Given the description of an element on the screen output the (x, y) to click on. 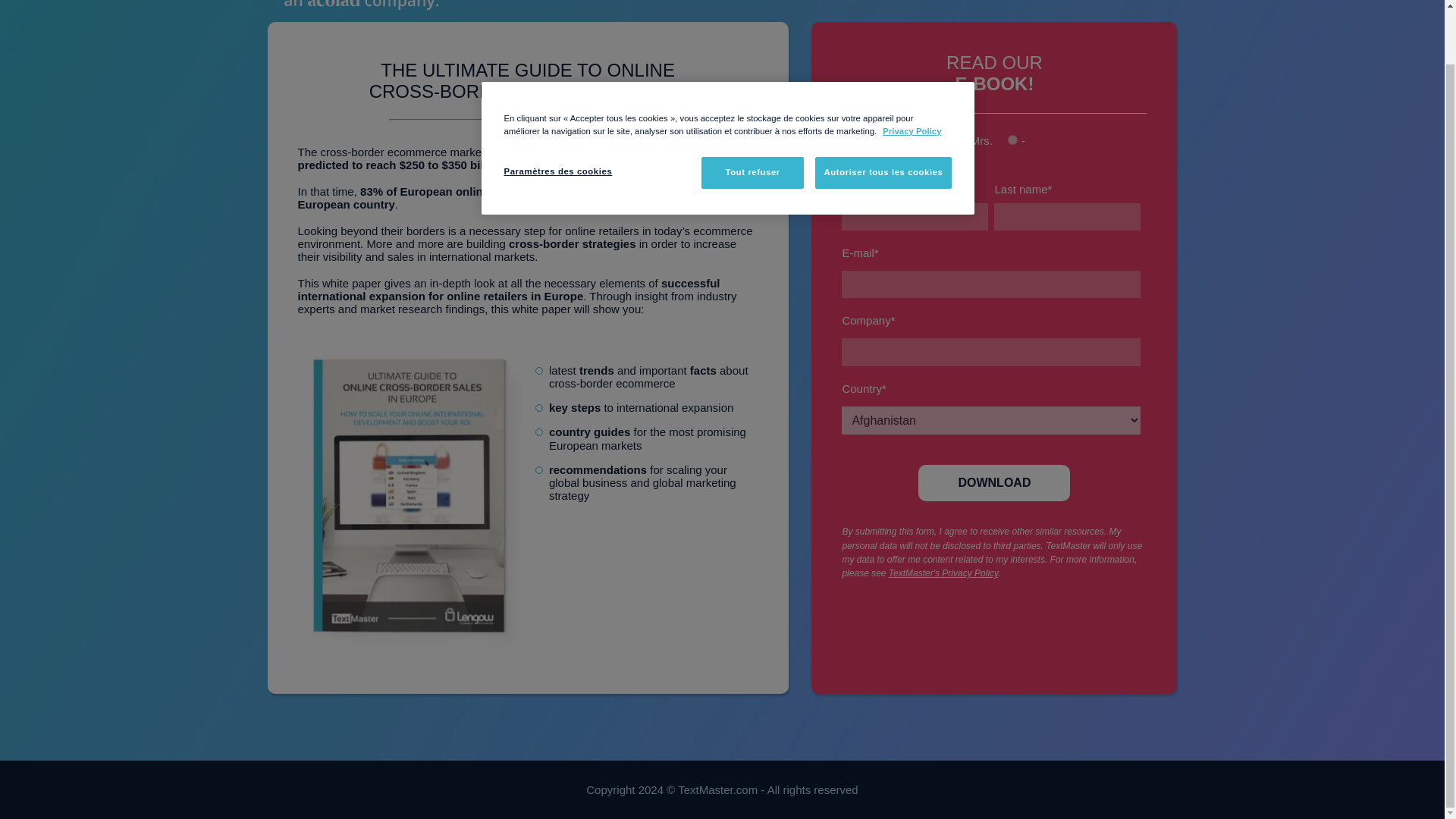
tm-acolad-ebook-white (395, 14)
Tout refuser (752, 114)
Download (994, 483)
Download (994, 483)
TextMaster's Privacy Policy (942, 573)
Mr. (916, 139)
Autoriser tous les cookies (882, 114)
- (1012, 139)
Mrs. (961, 139)
Privacy Policy (911, 71)
